Given the description of an element on the screen output the (x, y) to click on. 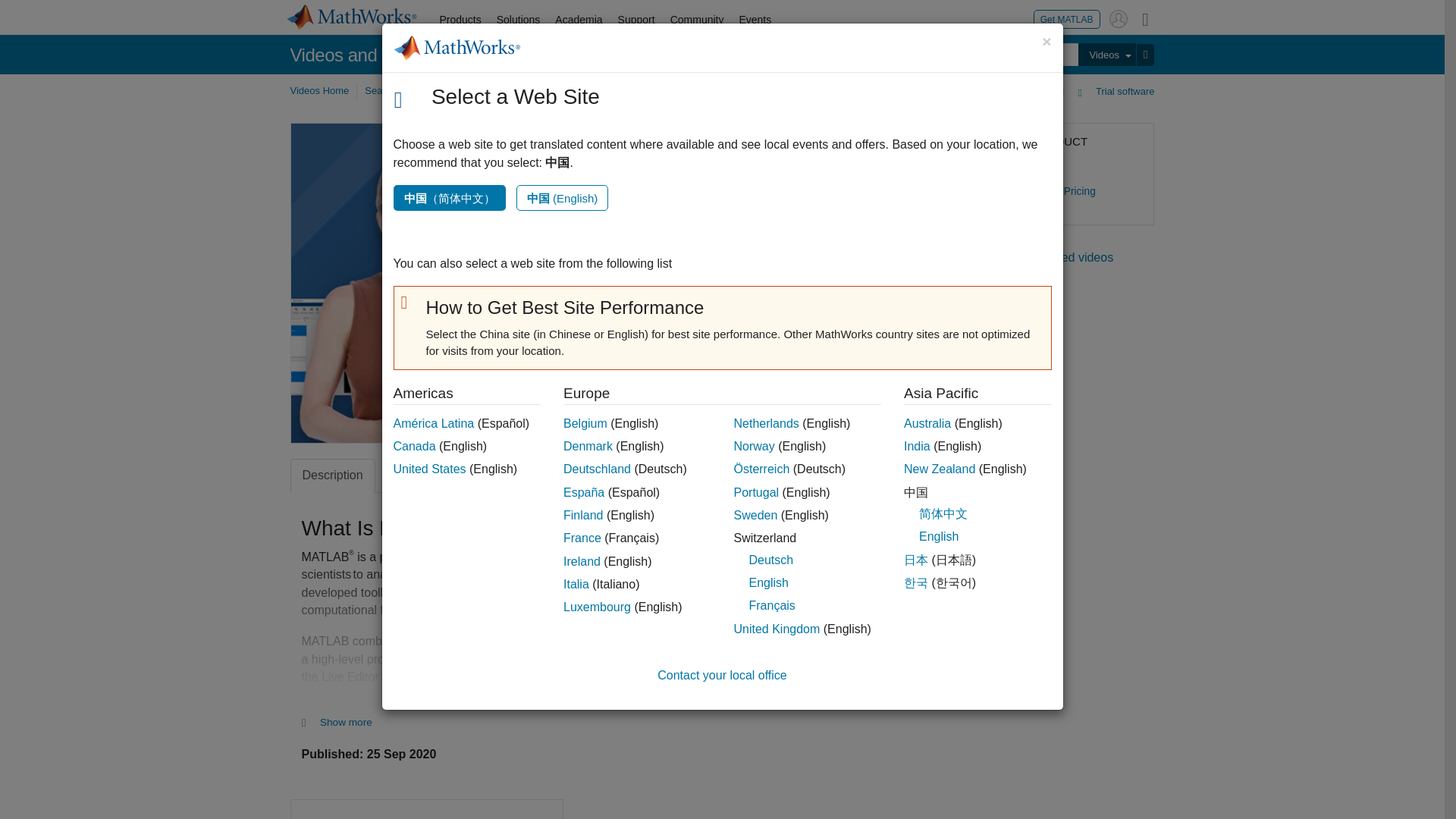
Sign In to Your MathWorks Account (1117, 18)
Products (460, 19)
Play Video (574, 282)
Events (754, 19)
Solutions (518, 19)
Support (636, 19)
Academia (578, 19)
Community (697, 19)
Get MATLAB (1066, 18)
